Given the description of an element on the screen output the (x, y) to click on. 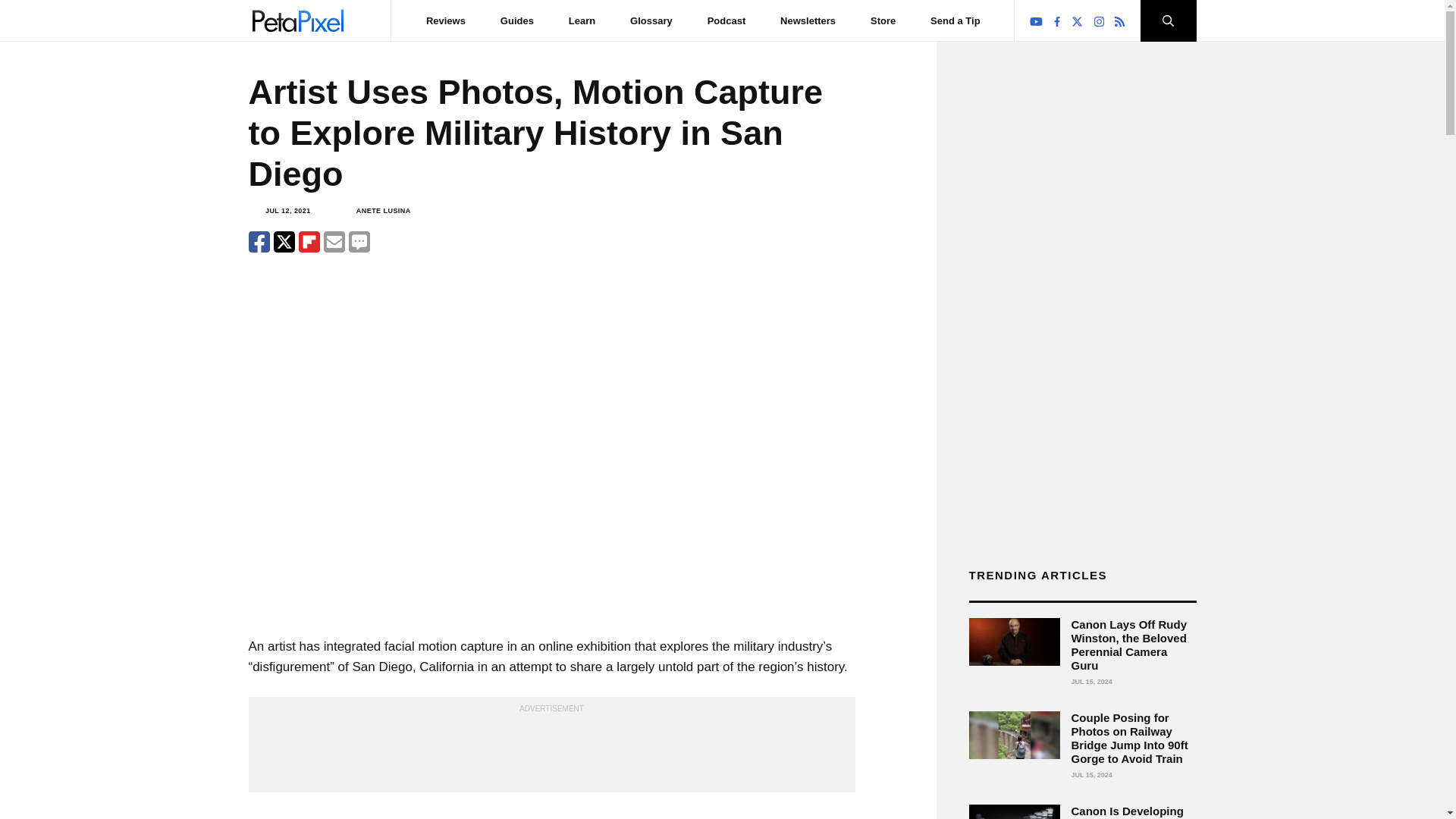
Podcast (726, 20)
Reviews (445, 20)
Send a Tip (954, 20)
Guides (517, 20)
ANETE LUSINA (383, 210)
Learn (582, 20)
Follow PetaPixel on X (1077, 21)
Newsletters (807, 20)
Share on X (283, 241)
Share on Flipboard (309, 241)
Share on facebook (258, 241)
Follow PetaPixel on YouTube (1035, 21)
PetaPixel (296, 20)
Store (882, 20)
Email this article (333, 241)
